Given the description of an element on the screen output the (x, y) to click on. 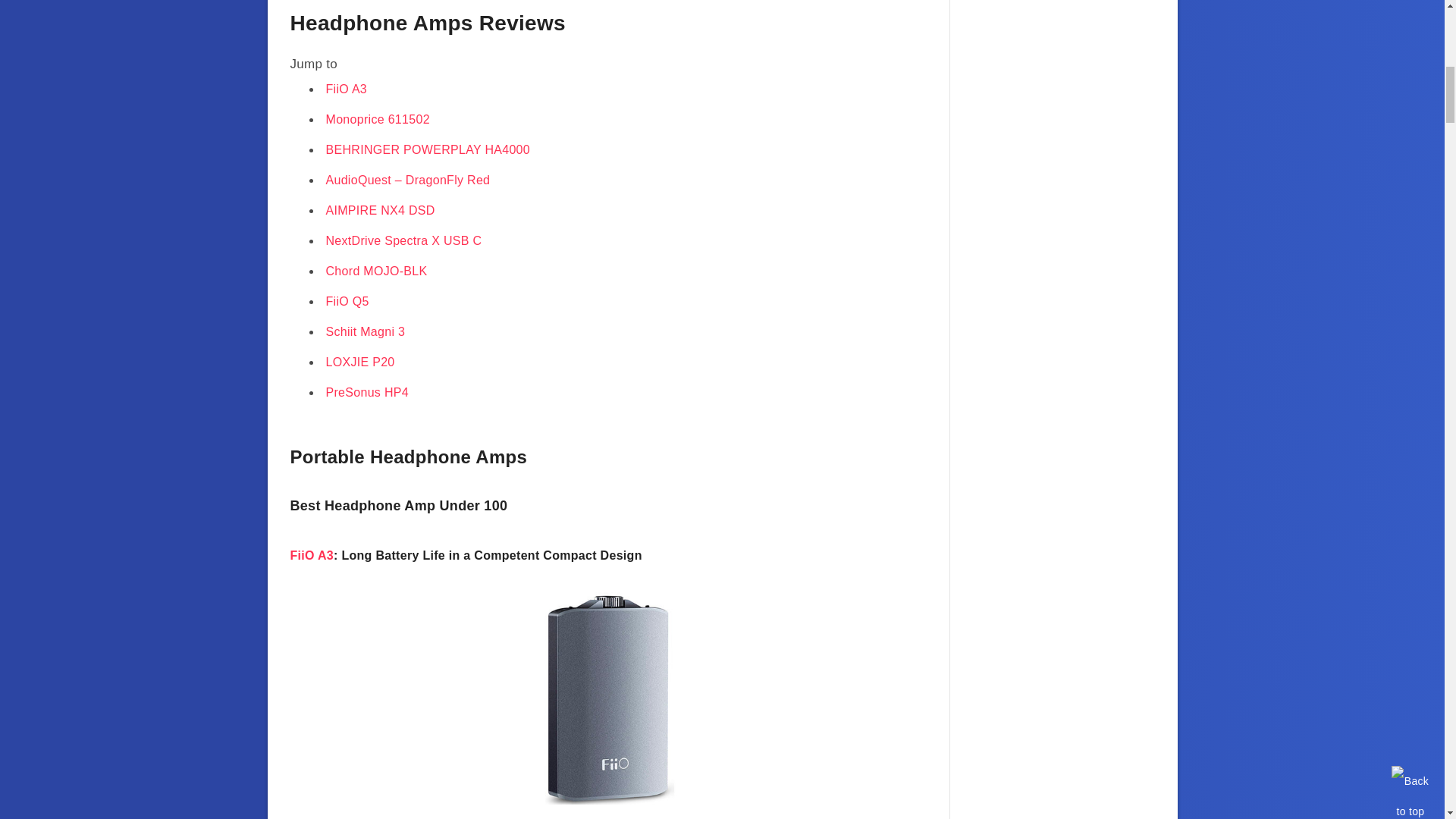
FiiO A3 (311, 554)
Monoprice 611502 (377, 119)
BEHRINGER POWERPLAY HA4000 (428, 149)
FiiO A3 (347, 88)
NextDrive Spectra X USB C (403, 240)
LOXJIE P20 (360, 361)
PreSonus HP4 (367, 391)
Chord MOJO-BLK (377, 270)
FiiO Q5 (347, 300)
Schiit Magni 3 (366, 331)
